Given the description of an element on the screen output the (x, y) to click on. 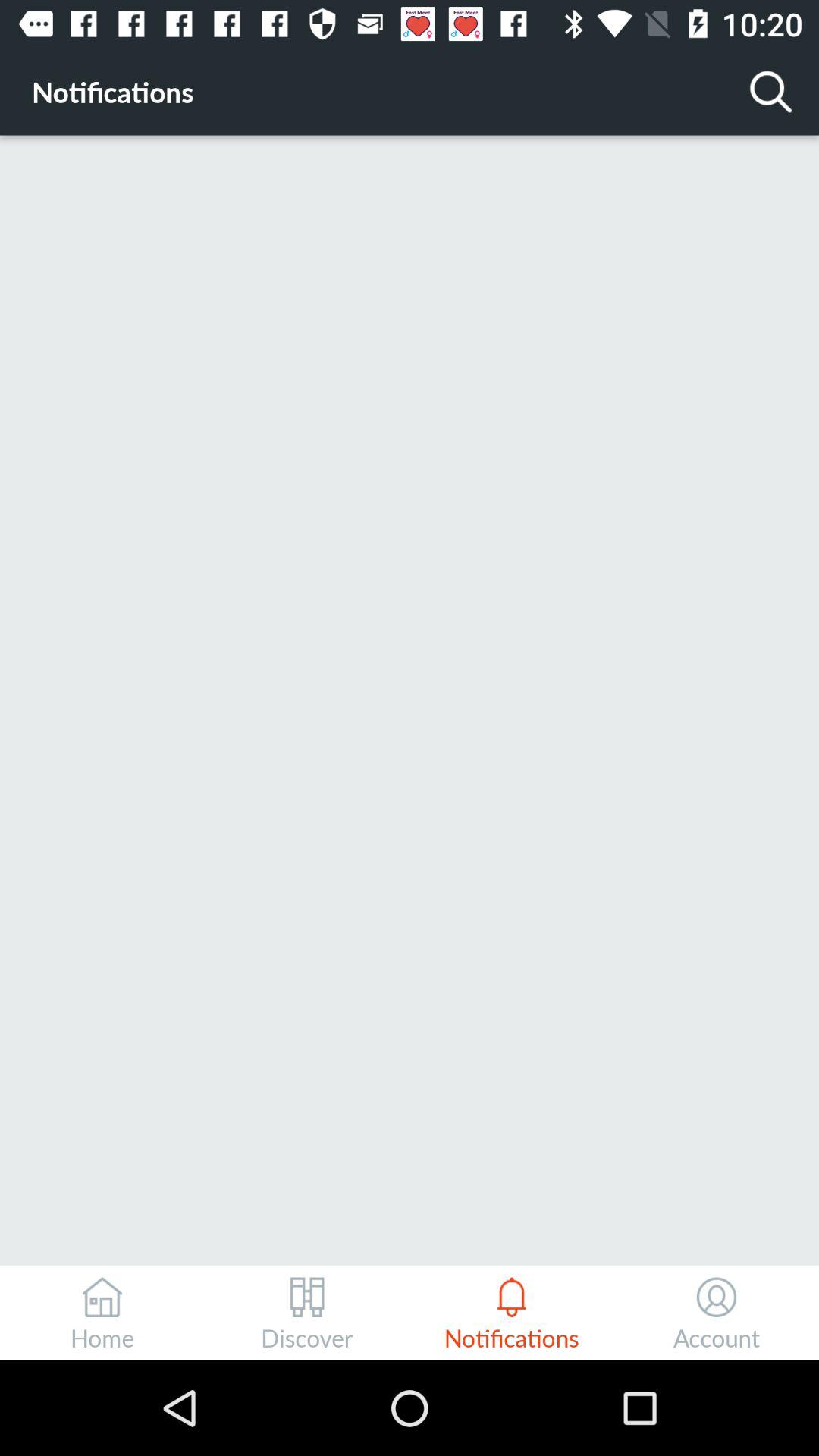
tap the icon to the right of notifications icon (771, 91)
